Given the description of an element on the screen output the (x, y) to click on. 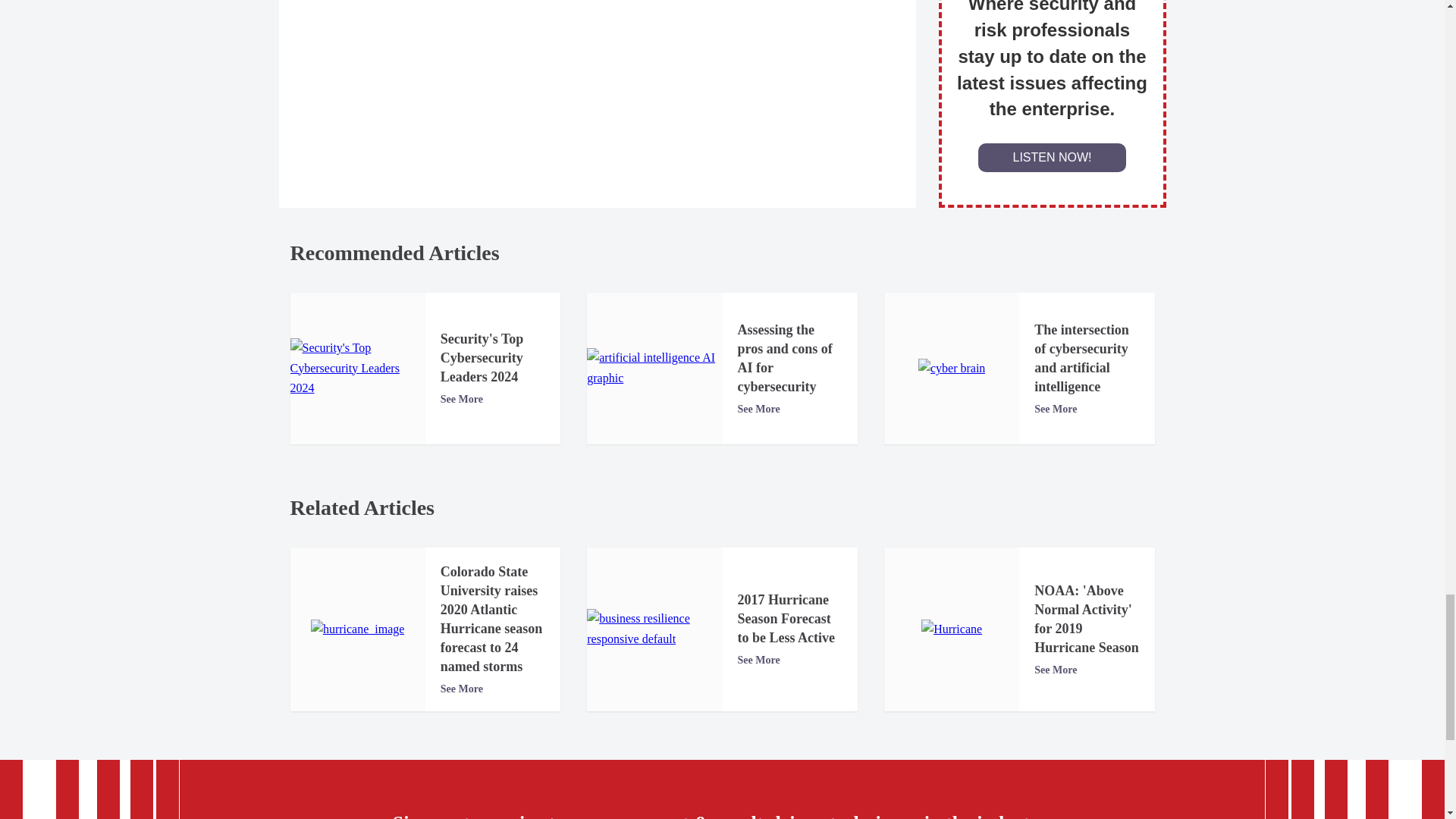
business resilience responsive default (654, 629)
cyber brain (951, 368)
Artificial Intelligence (654, 368)
Hurricane (951, 629)
Security's Top Cybersecurity Leaders 2024 (357, 368)
